Given the description of an element on the screen output the (x, y) to click on. 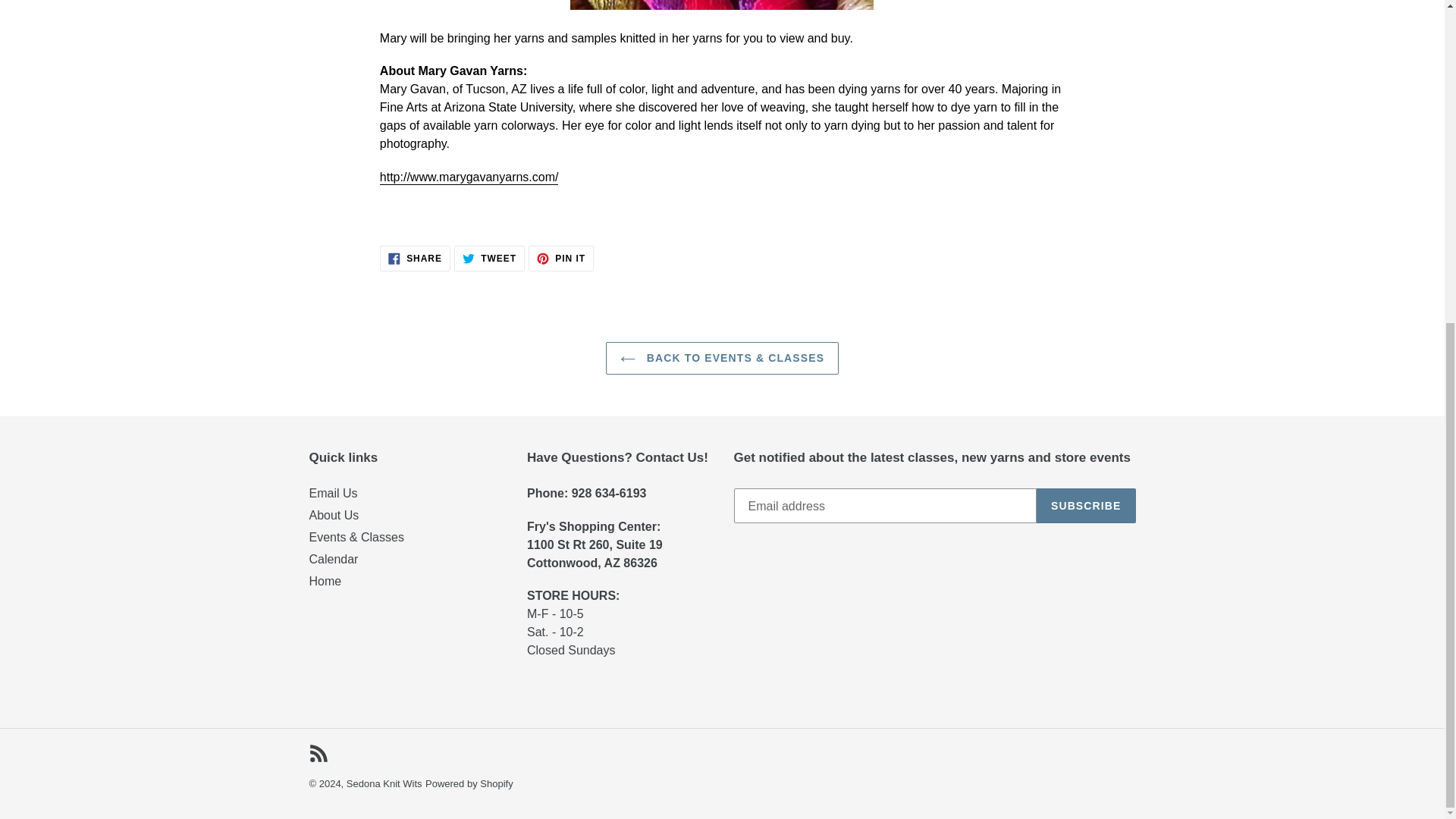
About Us (333, 514)
SUBSCRIBE (1085, 505)
Calendar (333, 558)
Sedona Knit Wits (414, 258)
Home (384, 783)
Email Us (325, 581)
Powered by Shopify (489, 258)
RSS (333, 492)
